Given the description of an element on the screen output the (x, y) to click on. 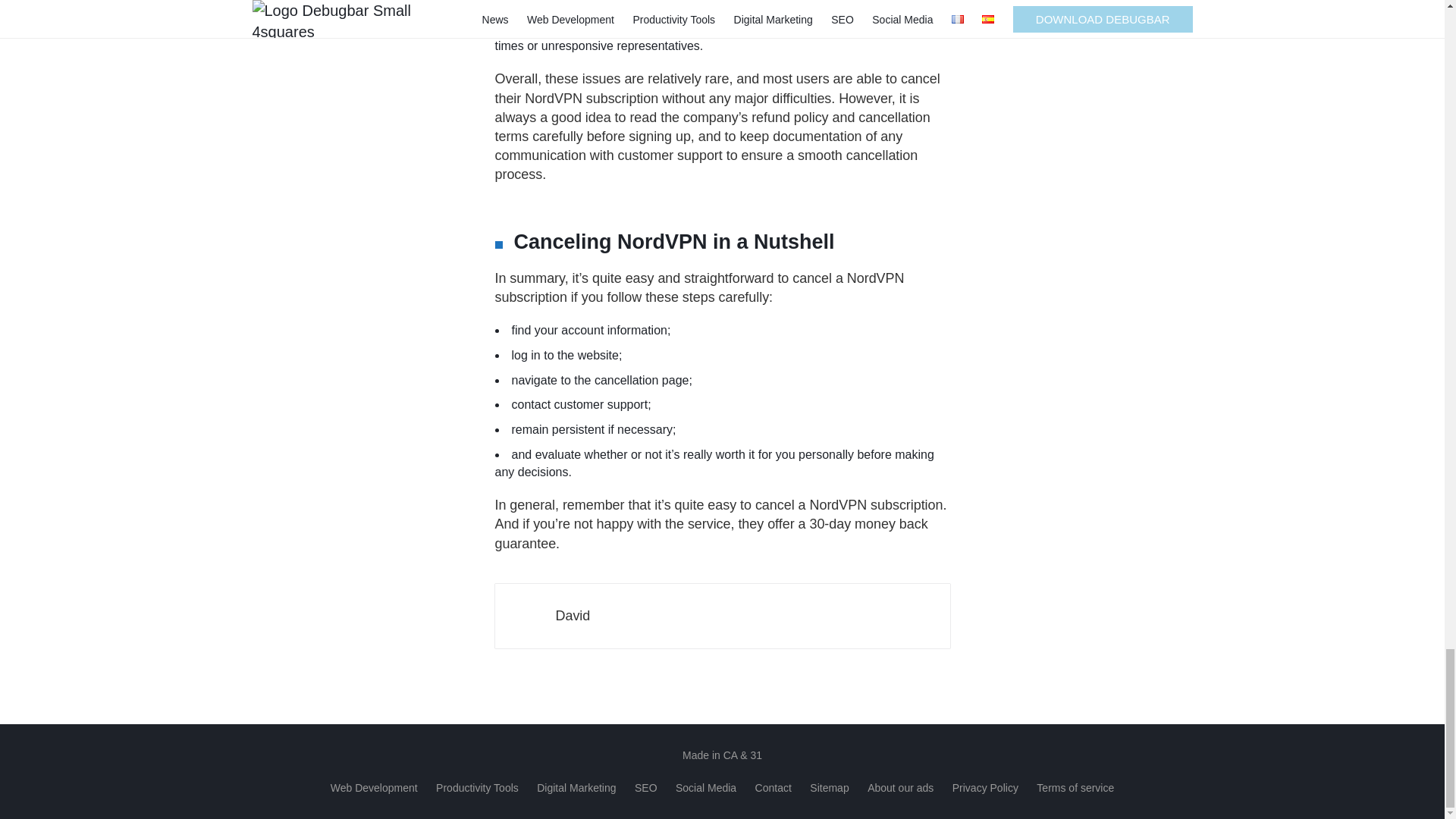
Sitemap (828, 787)
Social Media (705, 787)
About our ads (900, 787)
Contact (773, 787)
Privacy Policy (984, 787)
Productivity Tools (476, 787)
Web Development (373, 787)
Digital Marketing (576, 787)
SEO (646, 787)
Terms of service (1074, 787)
